Given the description of an element on the screen output the (x, y) to click on. 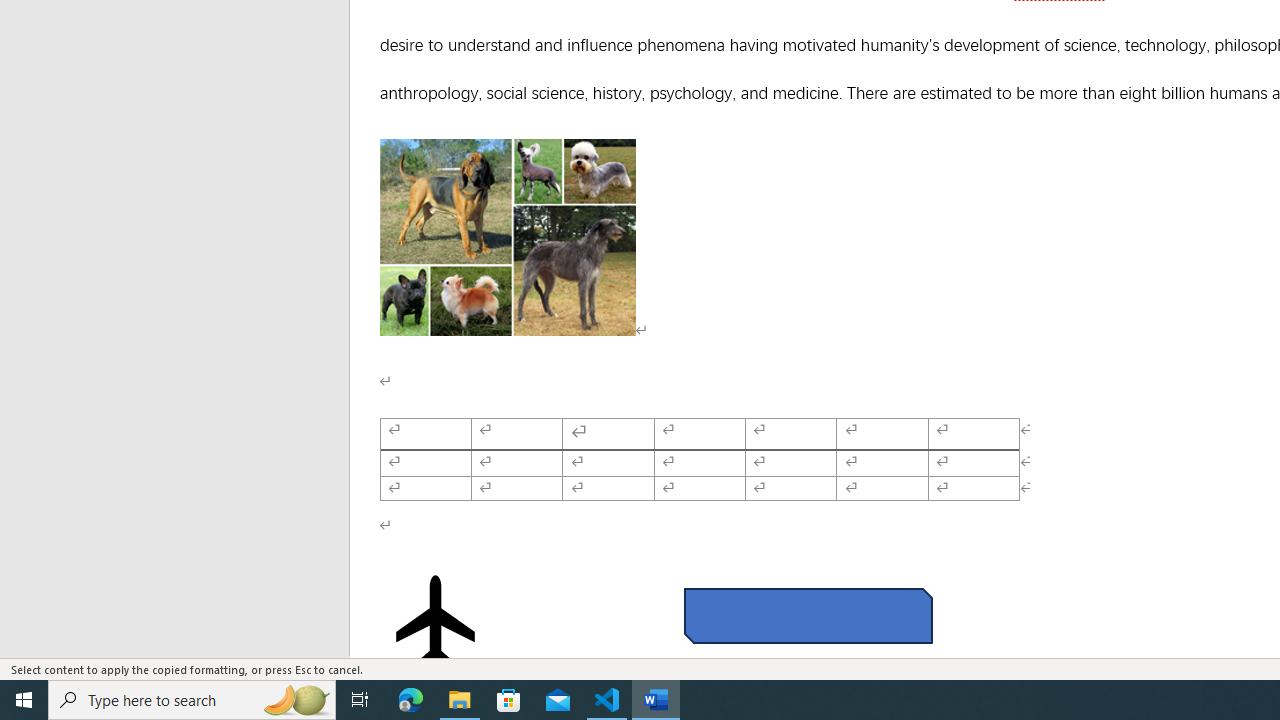
Morphological variation in six dogs (508, 237)
Airplane with solid fill (435, 620)
Rectangle: Diagonal Corners Snipped 2 (808, 615)
